Given the description of an element on the screen output the (x, y) to click on. 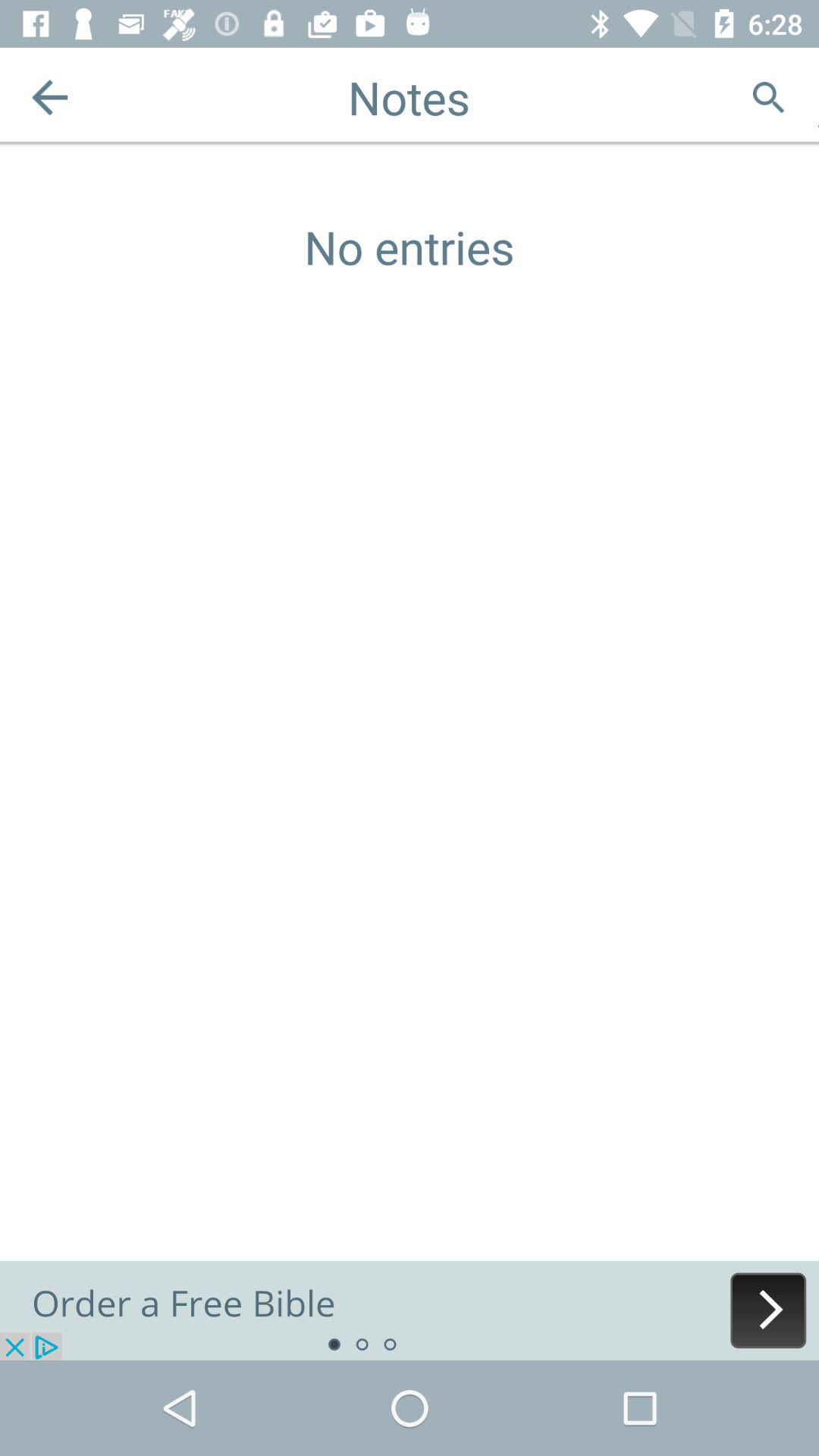
go to advertisement (409, 1310)
